Given the description of an element on the screen output the (x, y) to click on. 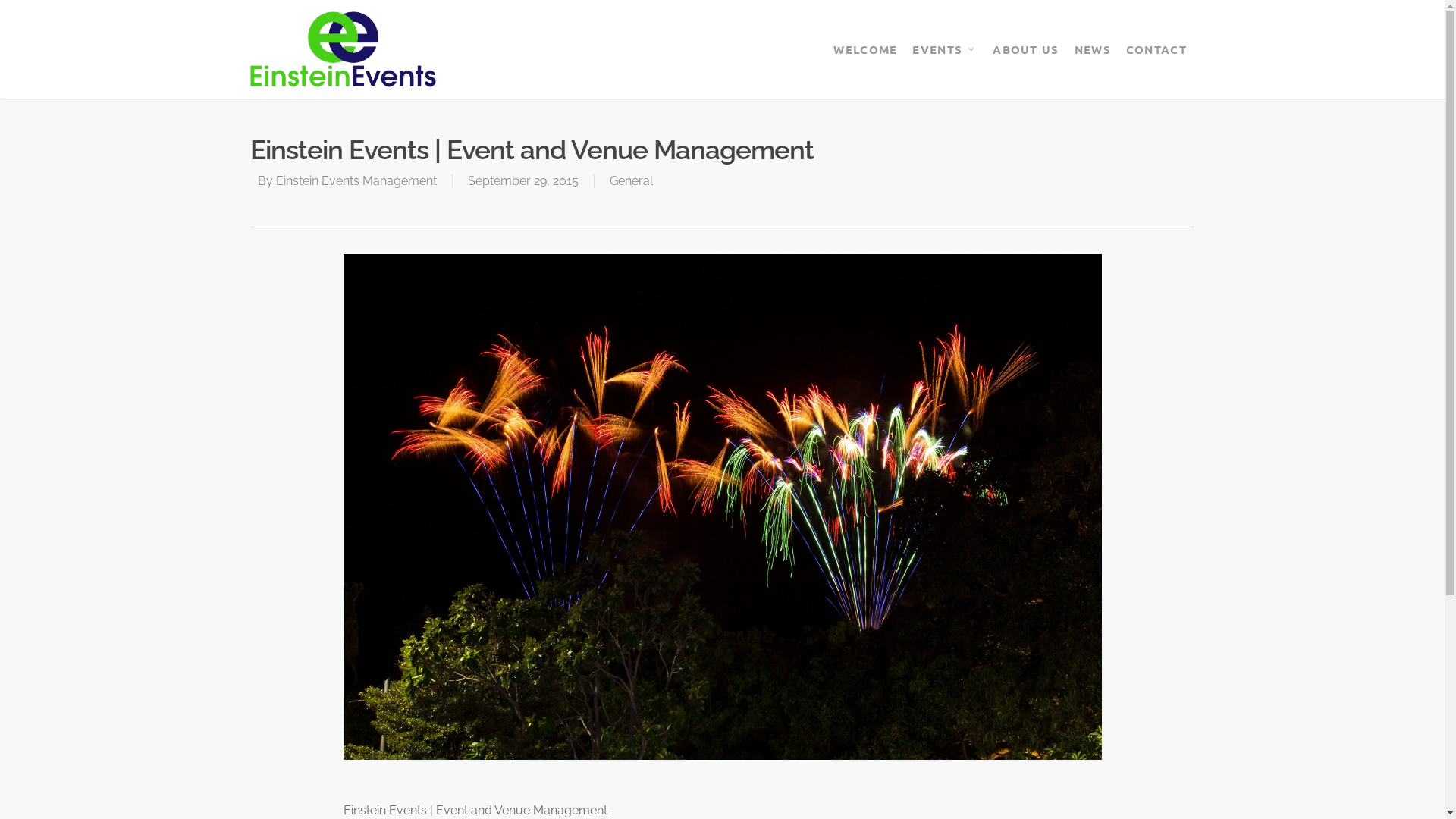
Einstein Events Management Element type: text (356, 180)
NEWS Element type: text (1092, 49)
WELCOME Element type: text (864, 49)
CONTACT Element type: text (1156, 49)
EVENTS Element type: text (944, 49)
ABOUT US Element type: text (1025, 49)
General Element type: text (630, 180)
